Given the description of an element on the screen output the (x, y) to click on. 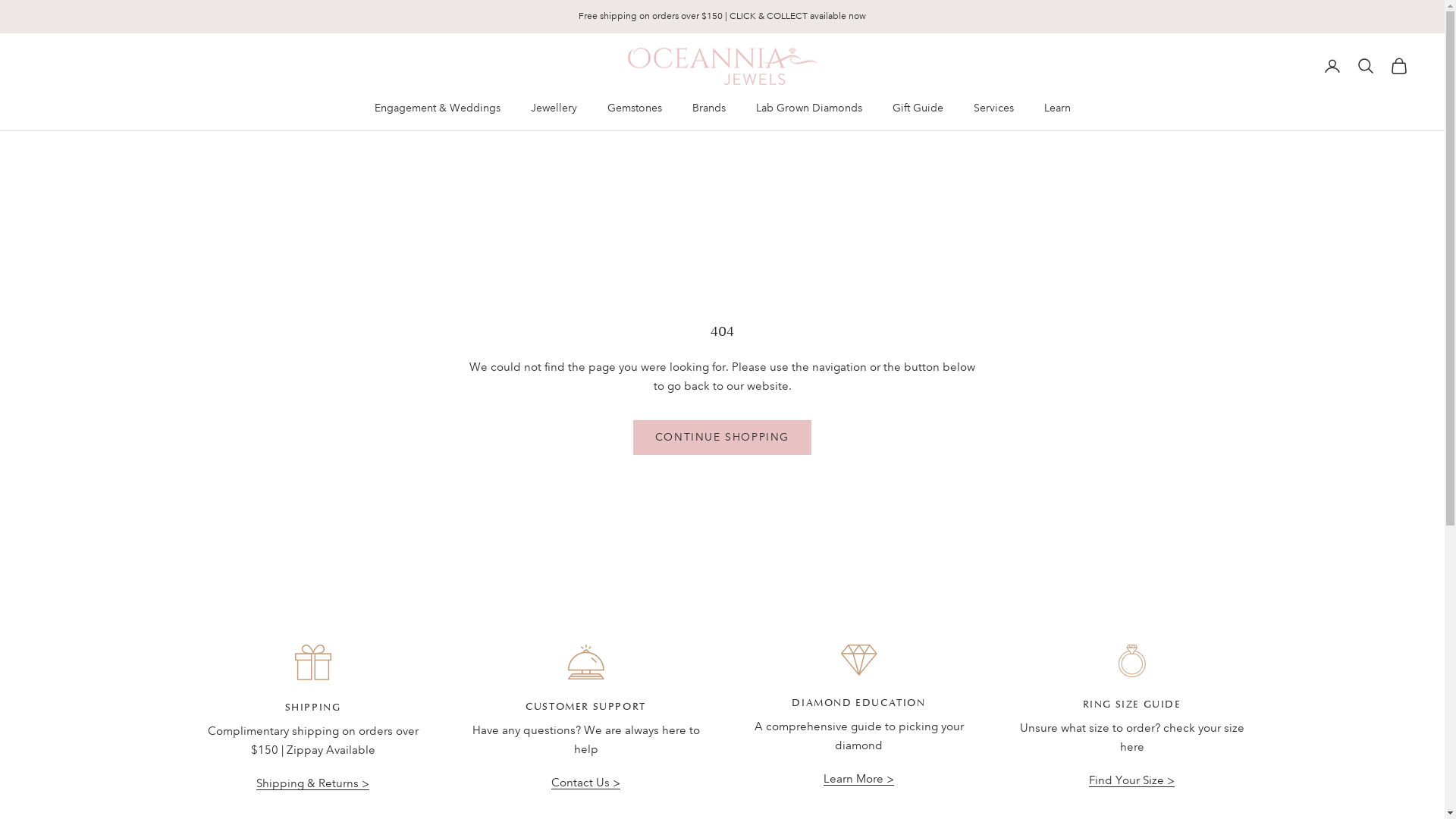
Open account page Element type: text (1332, 65)
Open search Element type: text (1365, 65)
Find Your Size > Element type: text (1131, 780)
Contact Us > Element type: text (585, 782)
Open cart Element type: text (1399, 65)
CONTINUE SHOPPING Element type: text (722, 437)
Learn More > Element type: text (858, 778)
Shipping & Returns > Element type: text (312, 783)
Oceannia Jewels Element type: text (722, 65)
